Given the description of an element on the screen output the (x, y) to click on. 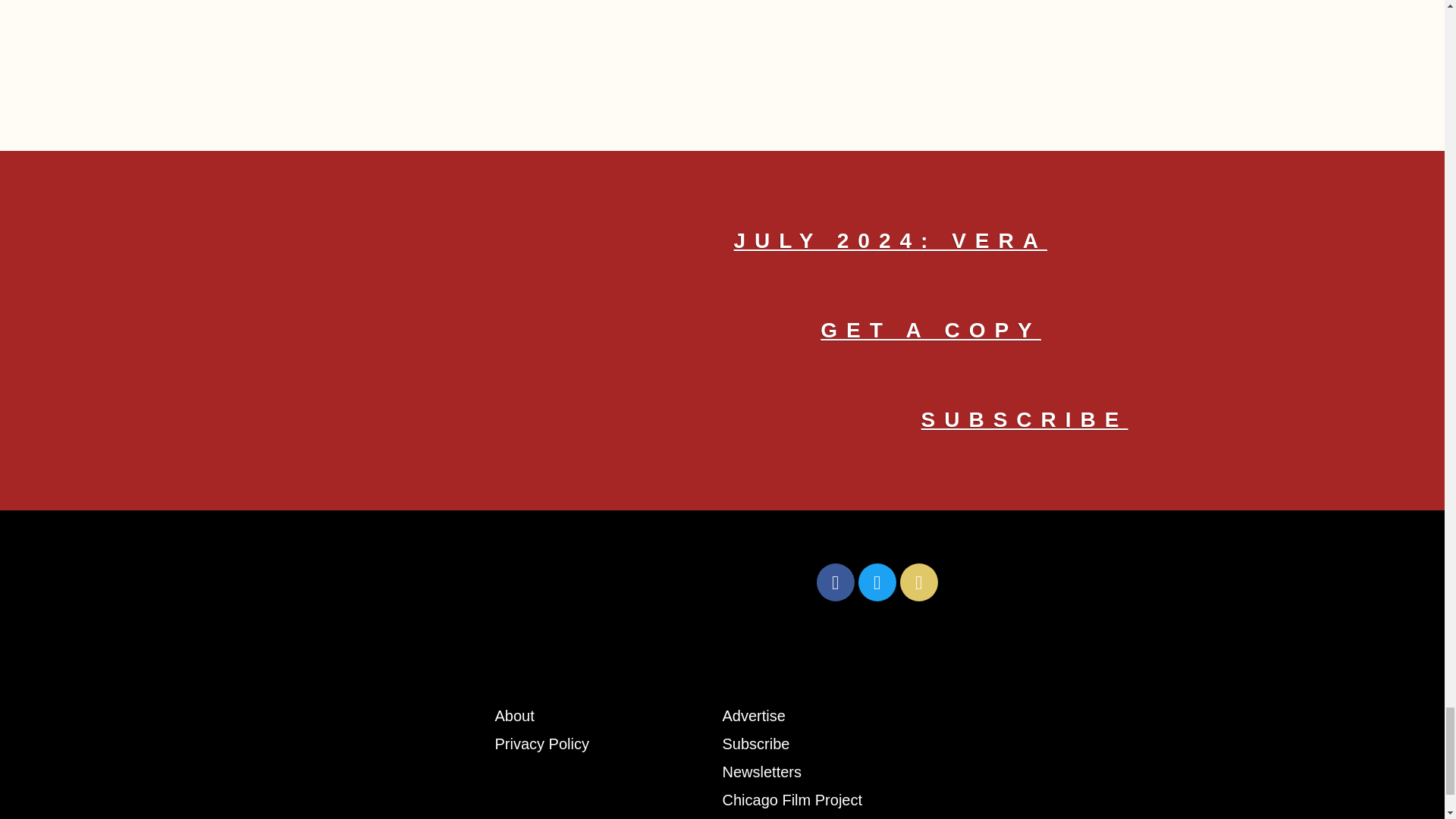
NewcityLogo.png (548, 582)
